Given the description of an element on the screen output the (x, y) to click on. 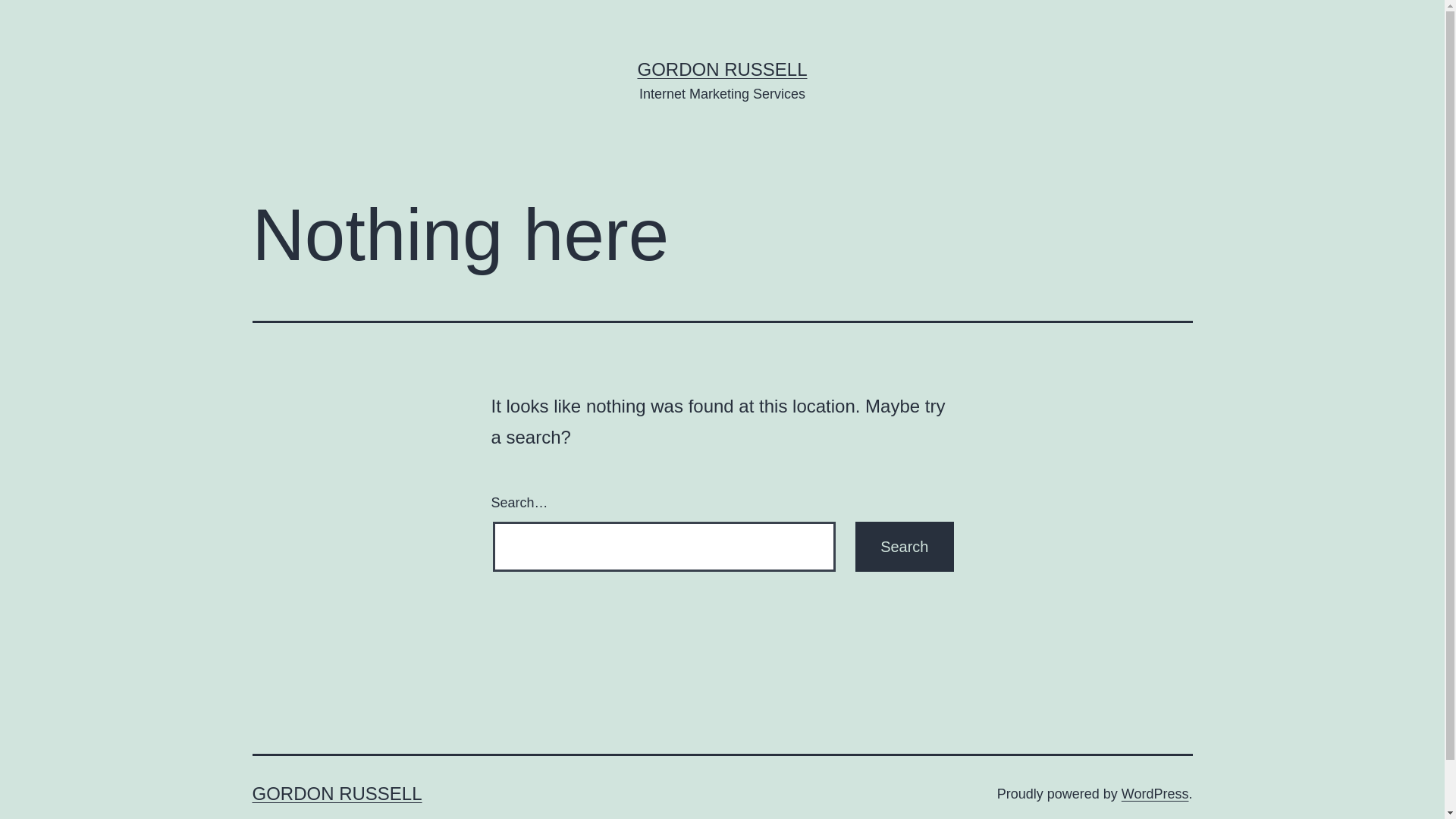
GORDON RUSSELL Element type: text (721, 69)
GORDON RUSSELL Element type: text (336, 793)
WordPress Element type: text (1155, 793)
Search Element type: text (904, 546)
